Given the description of an element on the screen output the (x, y) to click on. 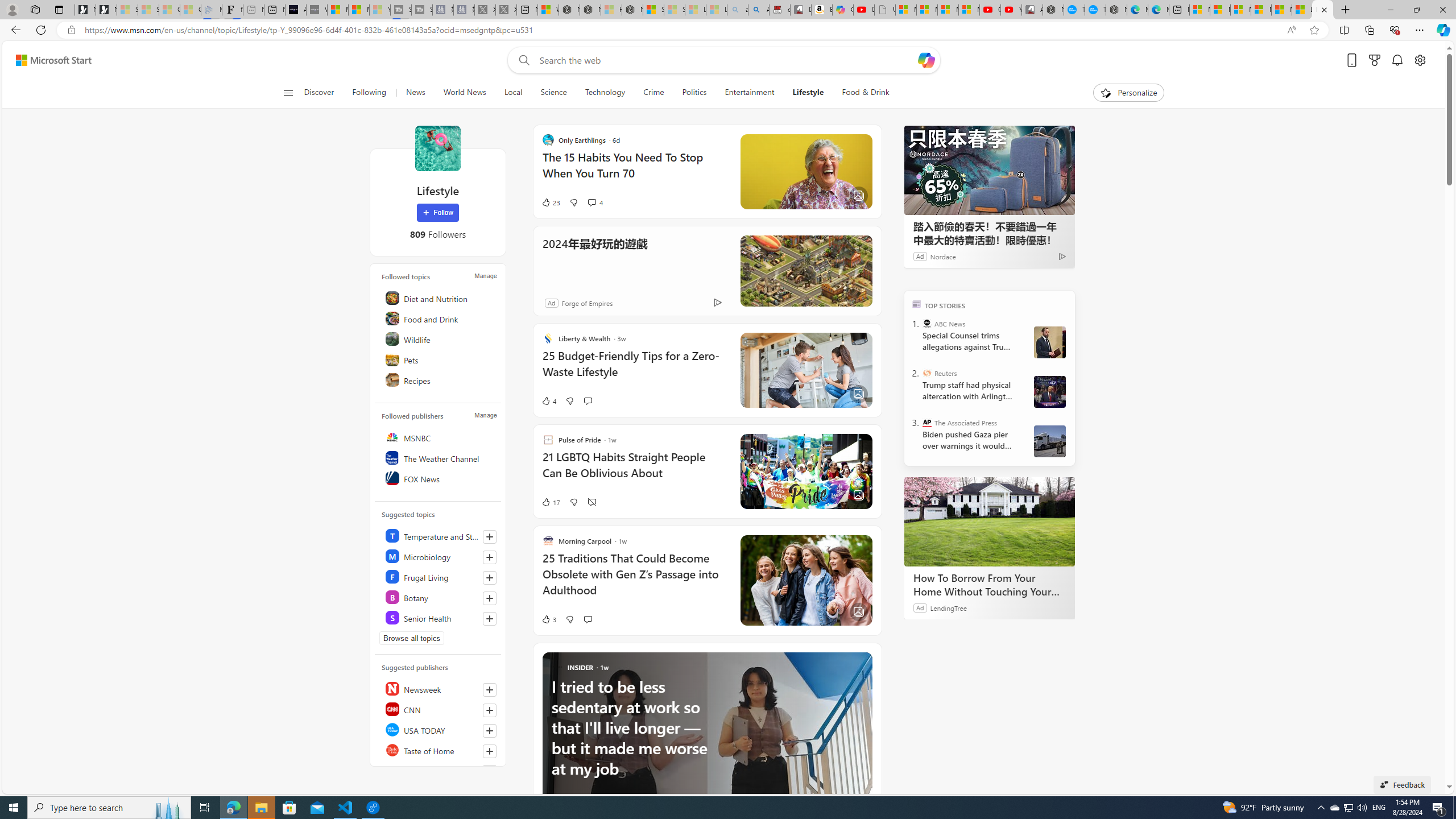
Newsweek (439, 688)
The most popular Google 'how to' searches (1095, 9)
How To Borrow From Your Home Without Touching Your Mortgage (989, 521)
World News (464, 92)
AI Voice Changer for PC and Mac - Voice.ai (296, 9)
New tab - Sleeping (253, 9)
Discover (323, 92)
Entertainment (748, 92)
Web search (520, 60)
